Given the description of an element on the screen output the (x, y) to click on. 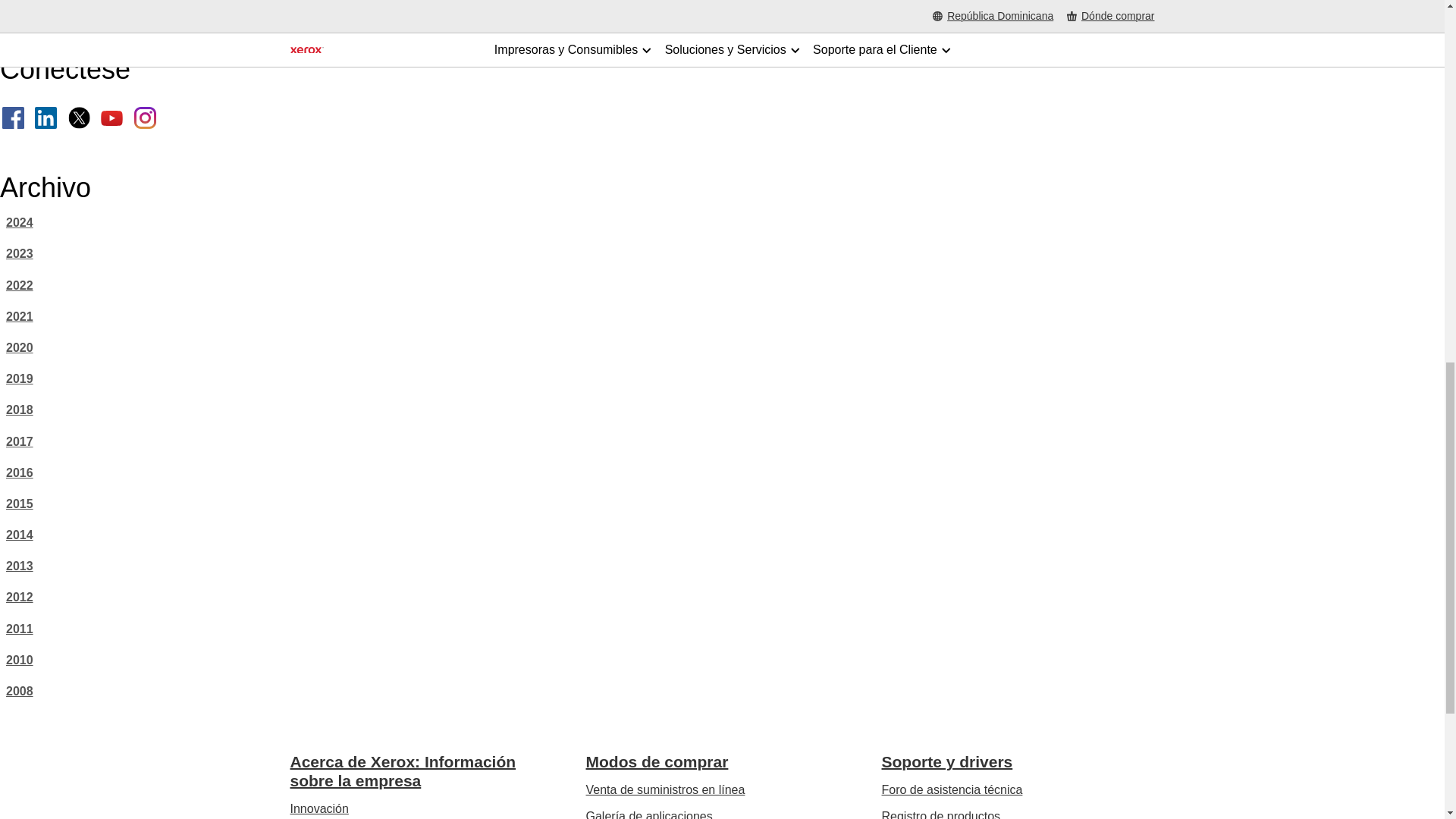
linkedin (45, 117)
instagram (144, 117)
youtube (111, 117)
facebook (13, 117)
X (79, 117)
